Given the description of an element on the screen output the (x, y) to click on. 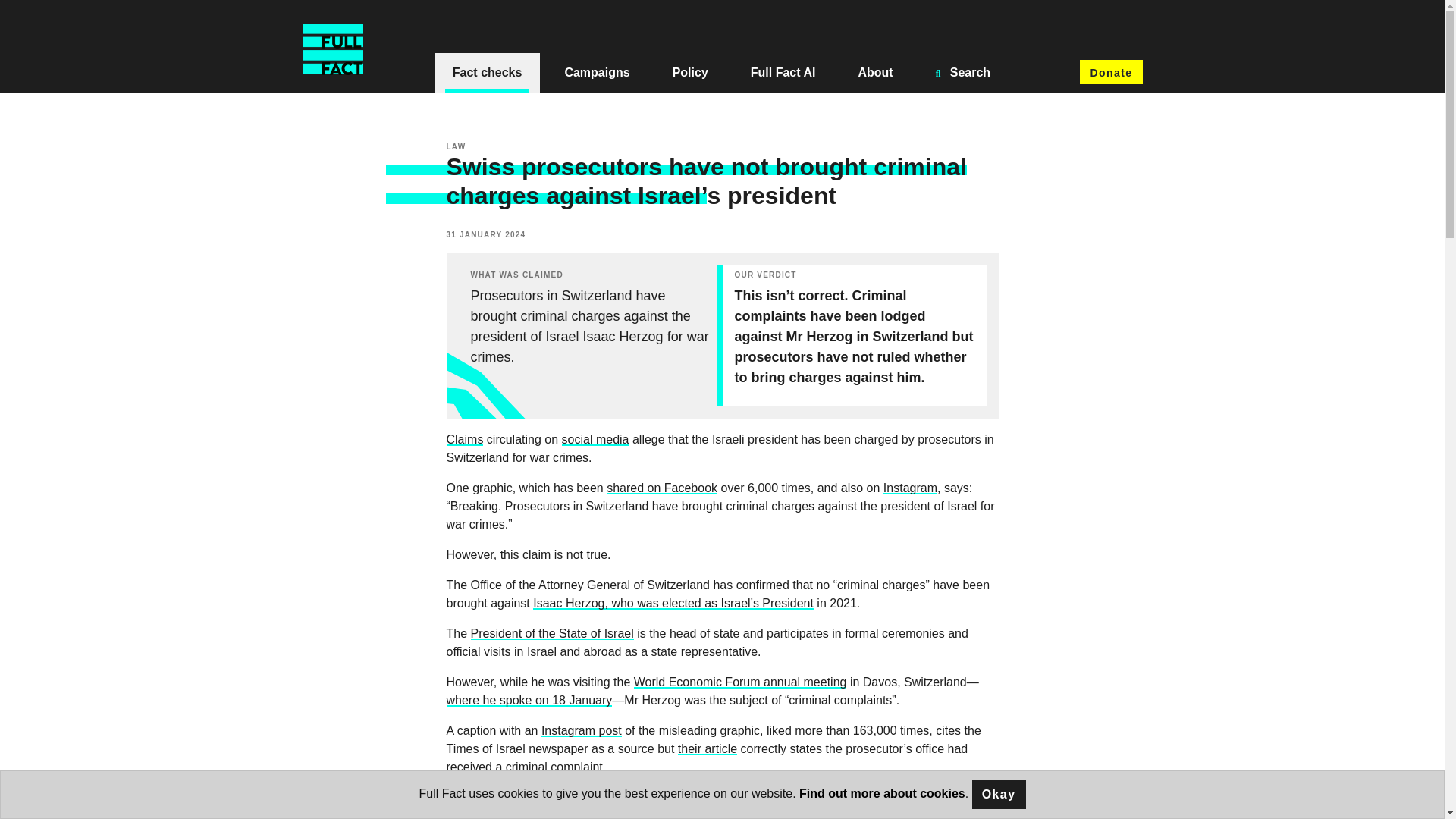
Policy (689, 72)
Full Fact AI (783, 72)
About (875, 72)
Fact checks (486, 72)
Campaigns (596, 72)
Donate (1110, 71)
